Given the description of an element on the screen output the (x, y) to click on. 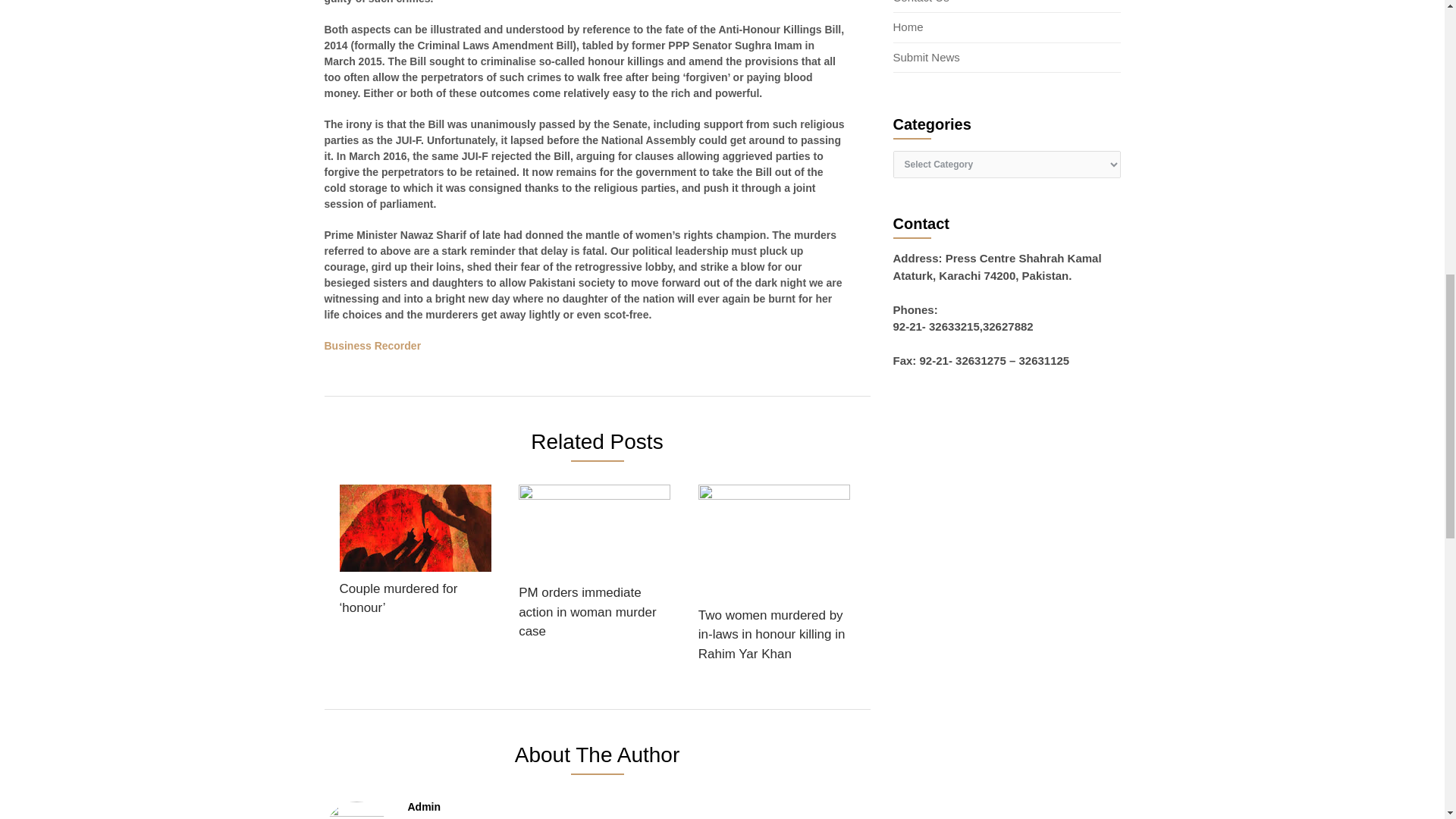
Contact Us (921, 2)
Business Recorder (373, 345)
PM orders immediate action in woman murder case (593, 566)
Home (908, 26)
